Given the description of an element on the screen output the (x, y) to click on. 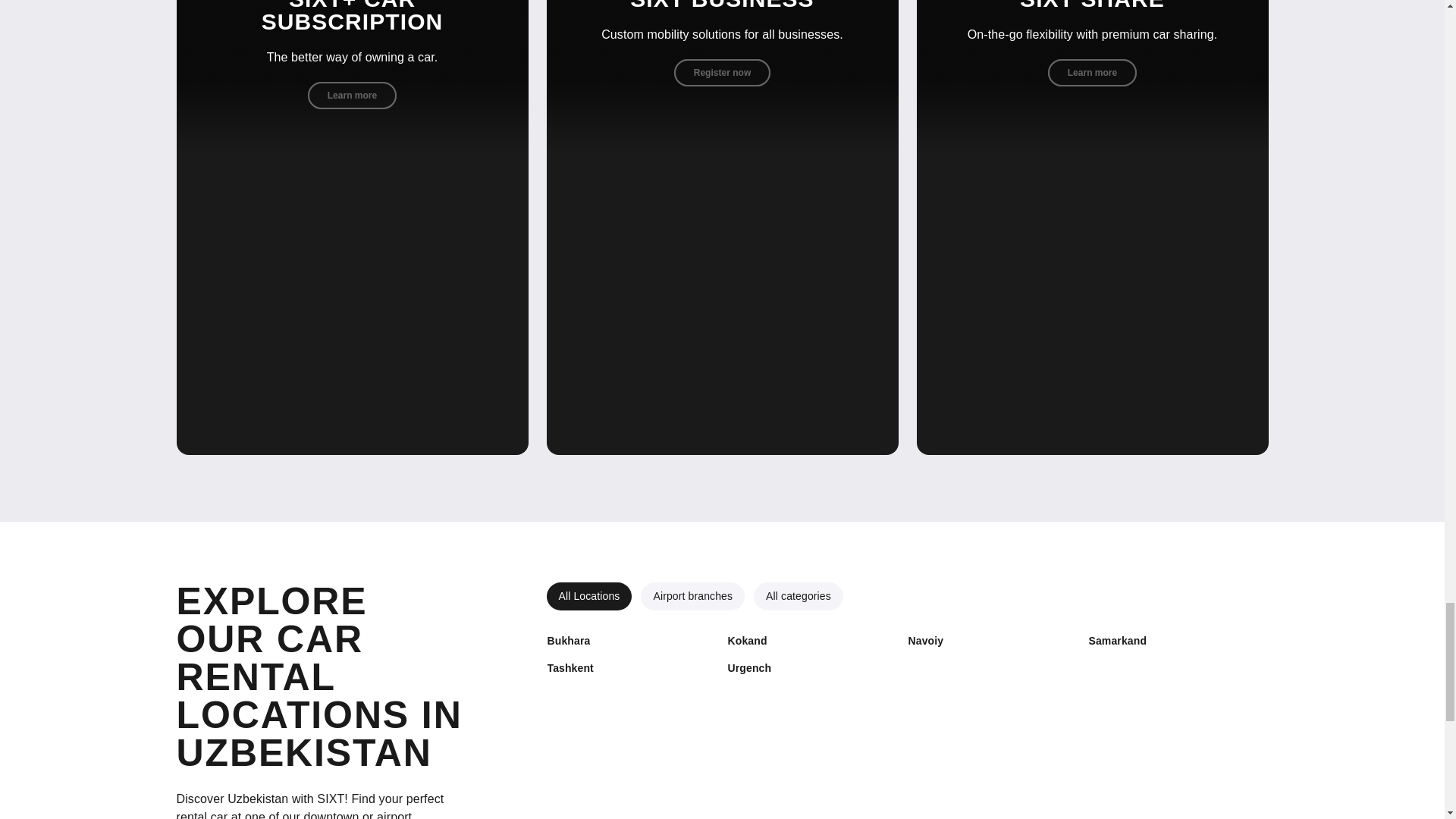
Tashkent (570, 668)
Navoiy (925, 641)
Kokand (746, 641)
Bukhara (568, 641)
Learn more (351, 94)
Urgench (748, 668)
Register now (722, 72)
Learn more (1092, 72)
Samarkand (1117, 641)
